Given the description of an element on the screen output the (x, y) to click on. 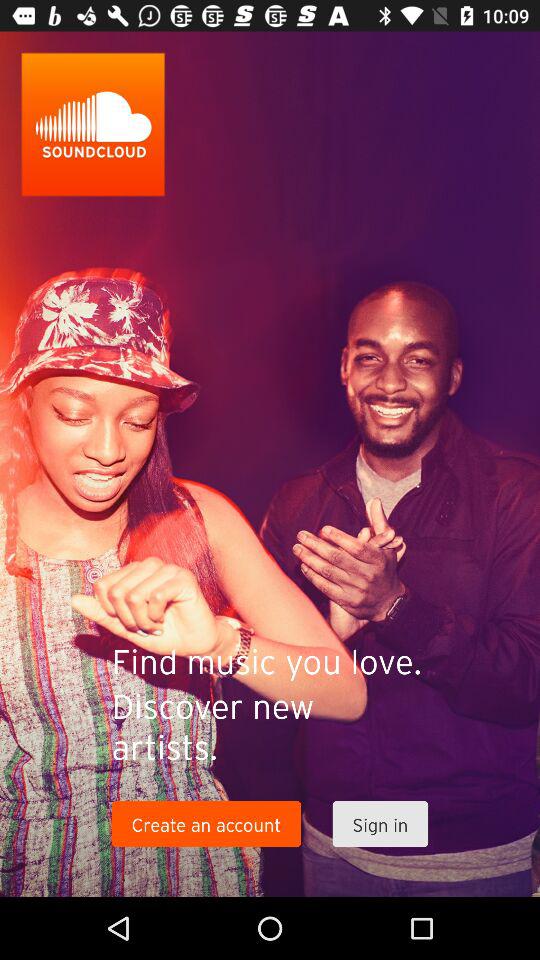
click item below the discover new artists. (380, 824)
